Given the description of an element on the screen output the (x, y) to click on. 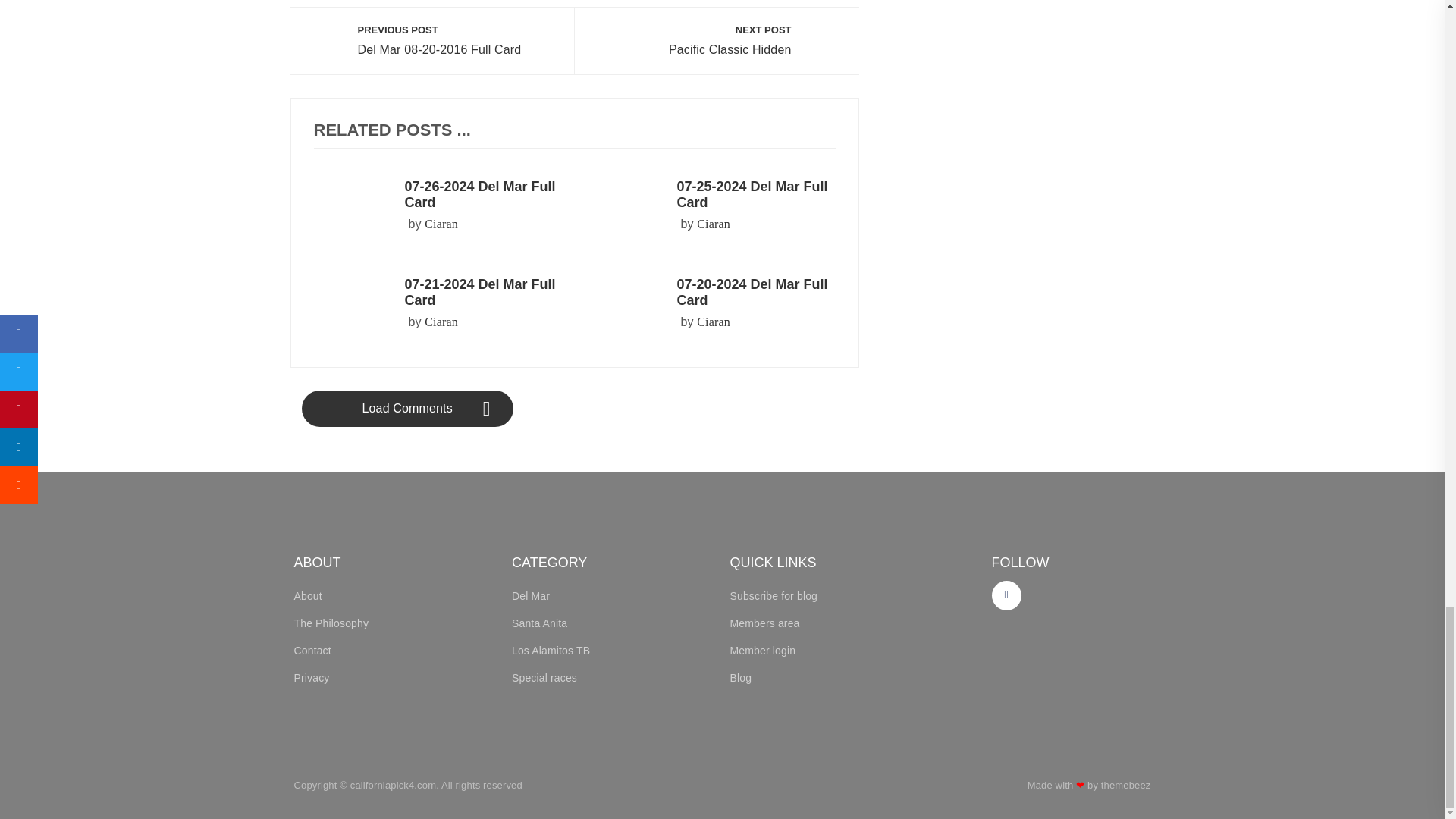
07-26-2024 Del Mar Full Card (480, 194)
07-20-2024 Del Mar Full Card (752, 292)
07-25-2024 Del Mar Full Card (752, 194)
Ciaran (441, 223)
Ciaran (713, 322)
Ciaran (441, 322)
Ciaran (727, 40)
07-21-2024 Del Mar Full Card (713, 223)
Load Comments (480, 292)
